Given the description of an element on the screen output the (x, y) to click on. 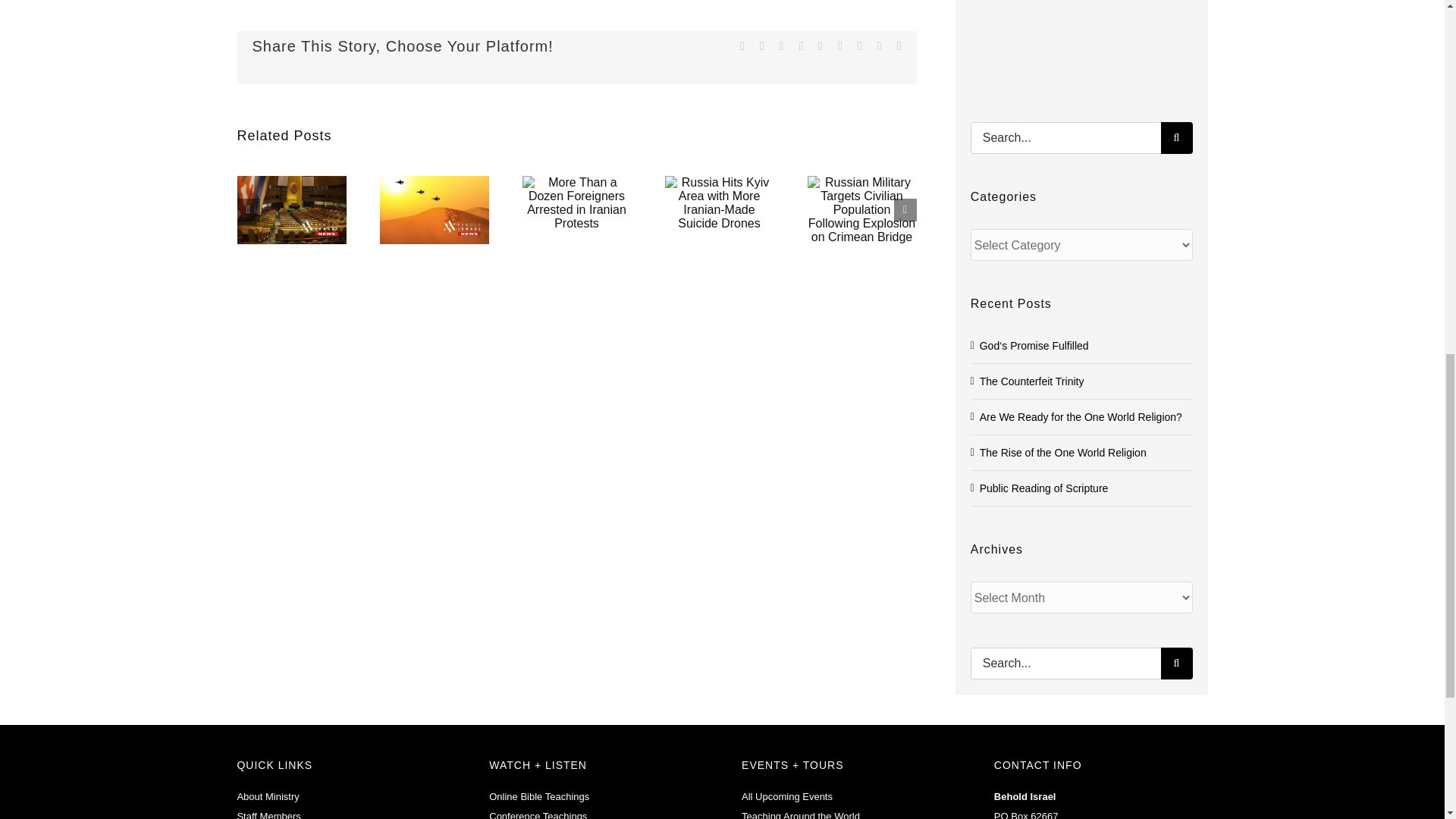
app-phone-mock-2019 (1080, 43)
